Given the description of an element on the screen output the (x, y) to click on. 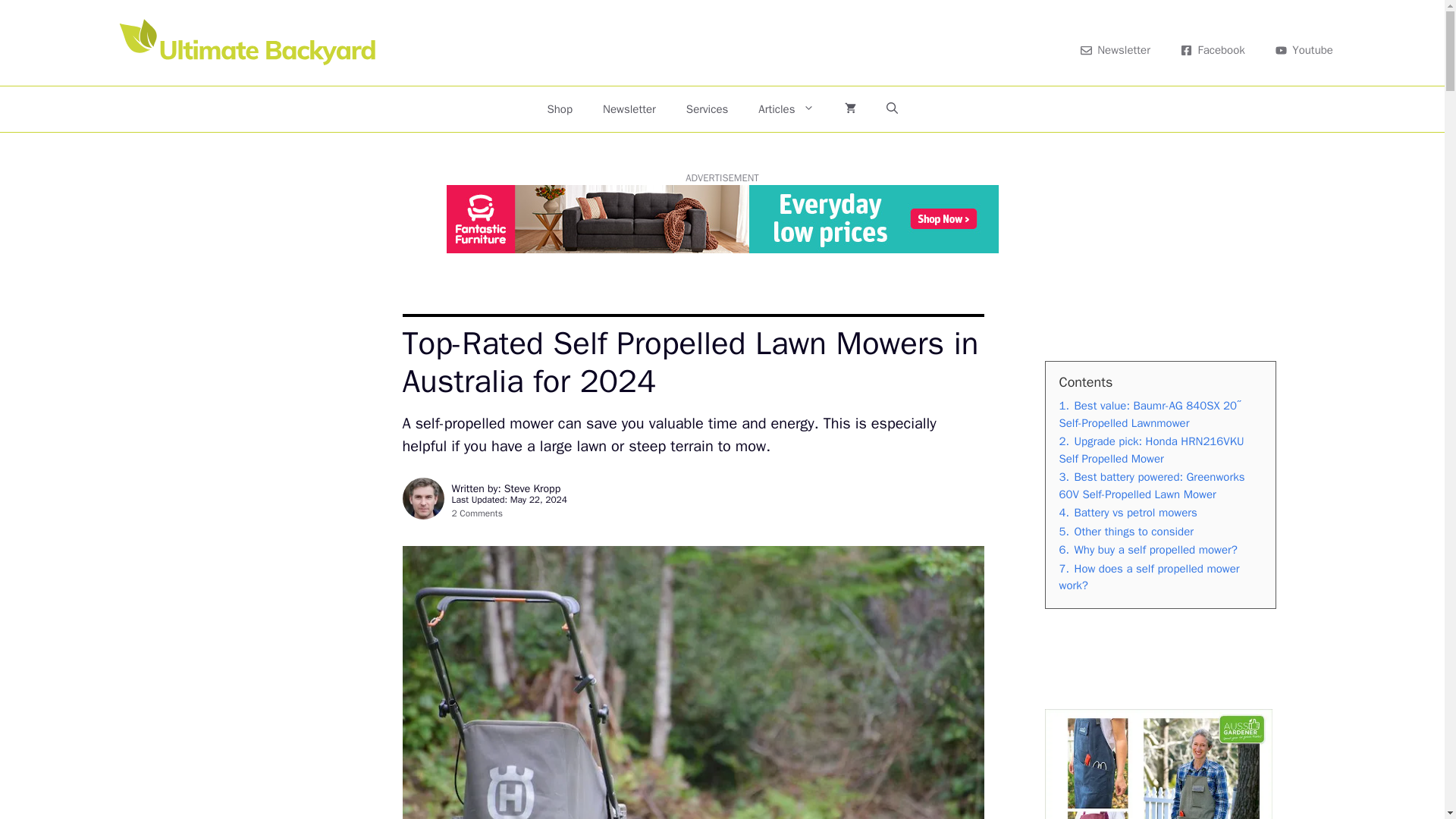
Newsletter (1115, 50)
View your shopping cart (849, 108)
Shop (560, 108)
Youtube (1304, 50)
Newsletter (629, 108)
Facebook (1213, 50)
Ultimate Backyard logo (250, 42)
Services (706, 108)
